Given the description of an element on the screen output the (x, y) to click on. 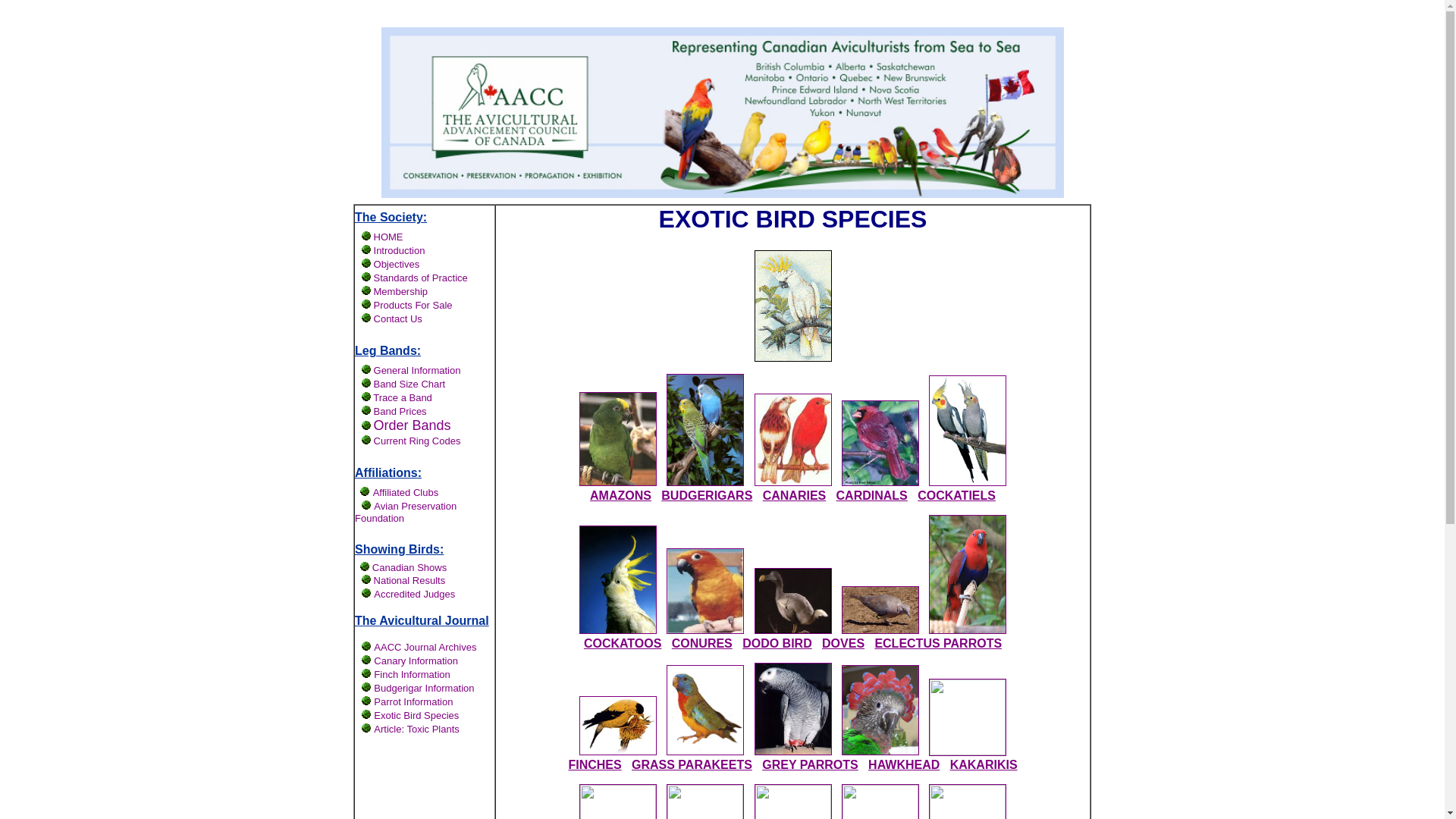
COCKATOOS Element type: text (622, 643)
Products For Sale Element type: text (412, 304)
Standards of Practice Element type: text (420, 276)
COCKATIELS Element type: text (956, 495)
Membership Element type: text (400, 291)
Exotic Bird Species Element type: text (415, 714)
GRASS PARAKEETS Element type: text (691, 764)
BUDGERIGARS Element type: text (706, 495)
Band Size Chart Element type: text (409, 382)
Finch Information Element type: text (411, 673)
Affiliated Clubs Element type: text (405, 491)
Canary Information Element type: text (415, 659)
Trace a Band Element type: text (402, 397)
Article: Toxic Plants Element type: text (415, 727)
Current Ring Codes Element type: text (417, 440)
DODO BIRD Element type: text (777, 643)
Band Prices Element type: text (399, 411)
CANARIES Element type: text (794, 495)
ECLECTUS PARROTS Element type: text (937, 643)
Accredited Judges Element type: text (414, 592)
Contact Us Element type: text (397, 317)
Order Bands Element type: text (412, 426)
AACC Journal Archives Element type: text (424, 646)
Introduction Element type: text (399, 249)
National Results Element type: text (409, 580)
CARDINALS Element type: text (871, 495)
AMAZONS Element type: text (620, 495)
Canadian Shows Element type: text (409, 566)
GREY PARROTS Element type: text (810, 764)
Avian Preservation Foundation Element type: text (405, 511)
KAKARIKIS Element type: text (983, 764)
HAWKHEAD Element type: text (903, 764)
DOVES Element type: text (843, 643)
General Information Element type: text (417, 370)
Parrot Information Element type: text (412, 700)
HOME Element type: text (388, 235)
Objectives Element type: text (396, 263)
CONURES Element type: text (701, 643)
Budgerigar Information Element type: text (423, 686)
FINCHES Element type: text (594, 764)
